Given the description of an element on the screen output the (x, y) to click on. 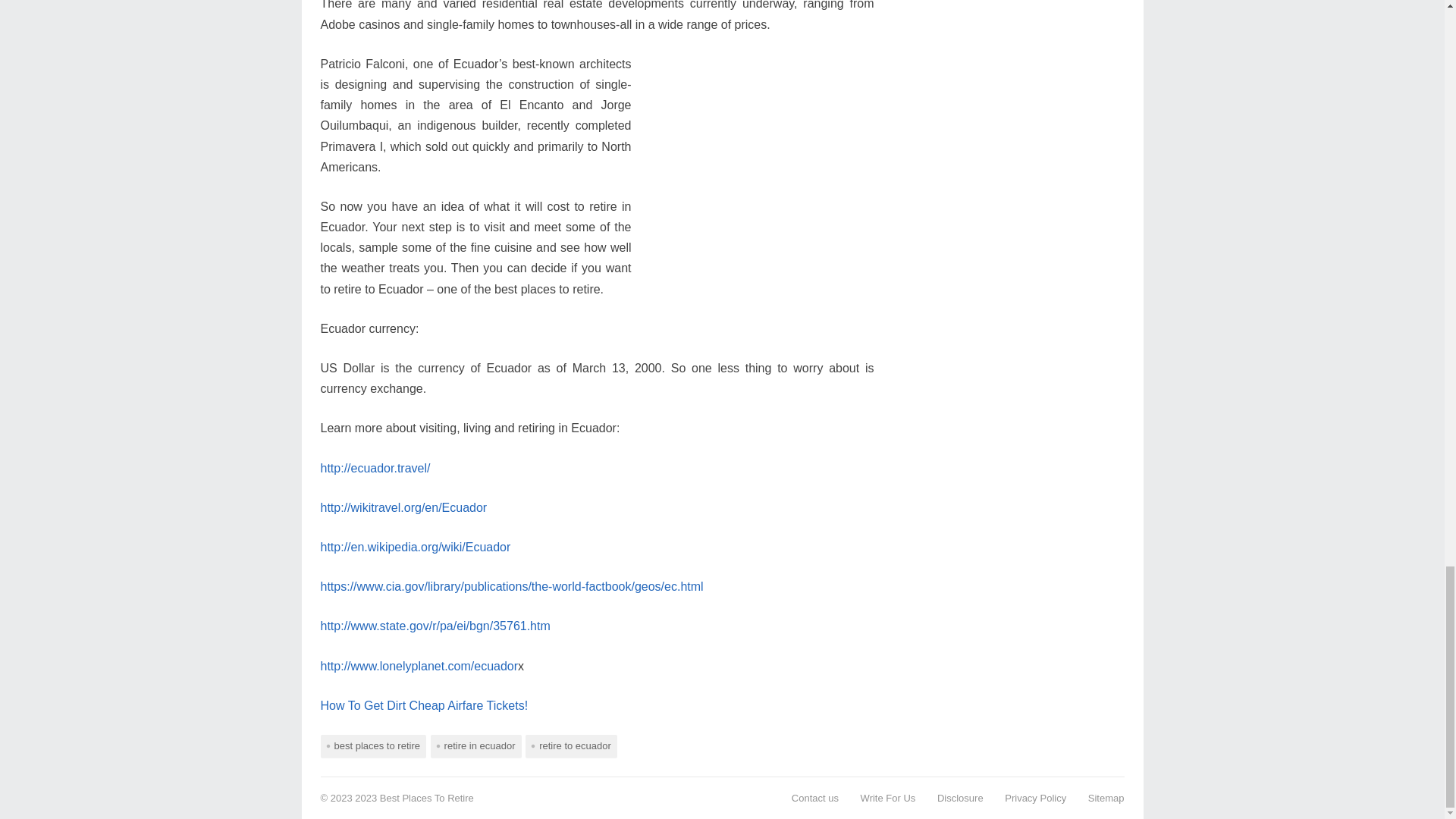
best places to retire (372, 745)
How To Get Dirt Cheap Airfare Tickets! (423, 705)
retire to ecuador (571, 745)
retire in ecuador (475, 745)
